Given the description of an element on the screen output the (x, y) to click on. 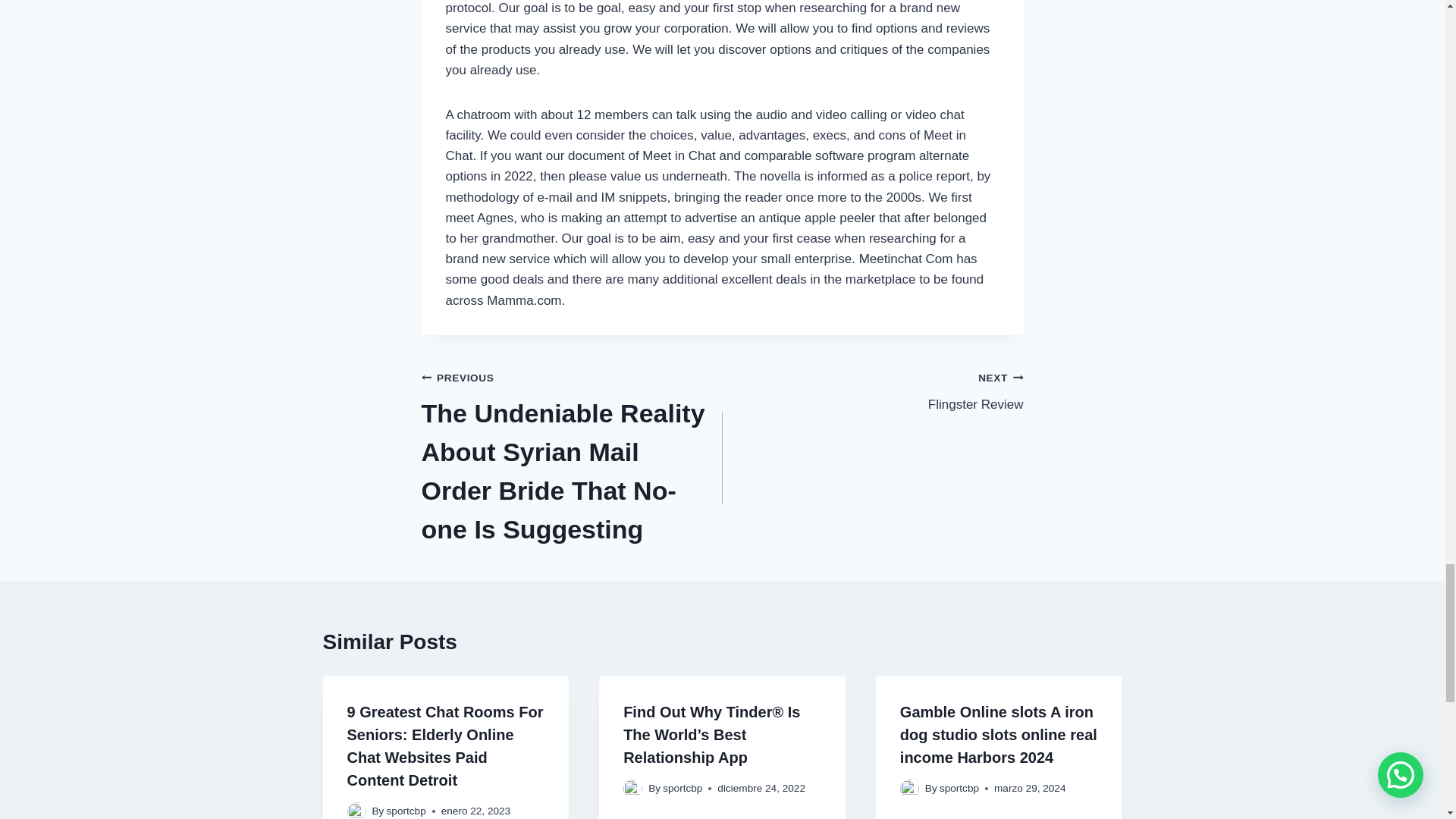
sportcbp (406, 810)
